Given the description of an element on the screen output the (x, y) to click on. 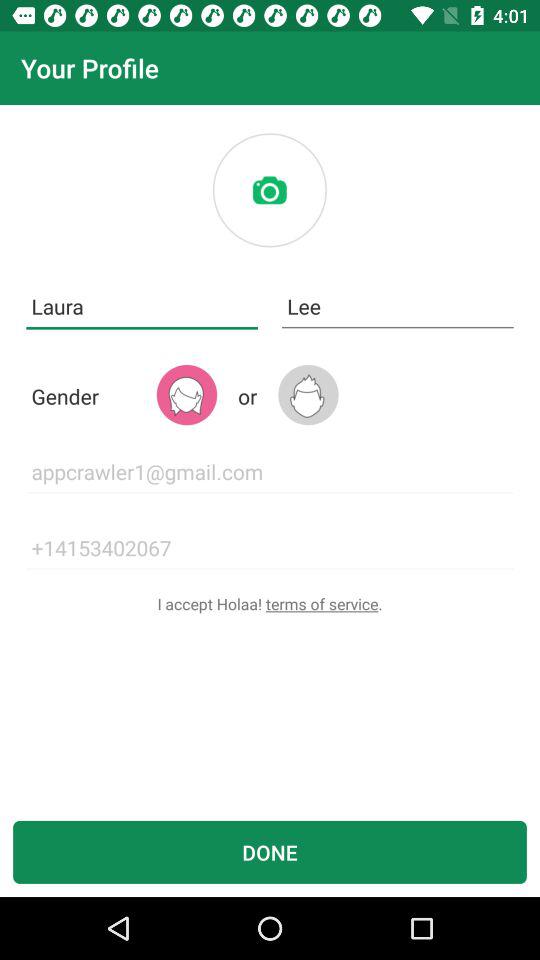
select for male (308, 394)
